Given the description of an element on the screen output the (x, y) to click on. 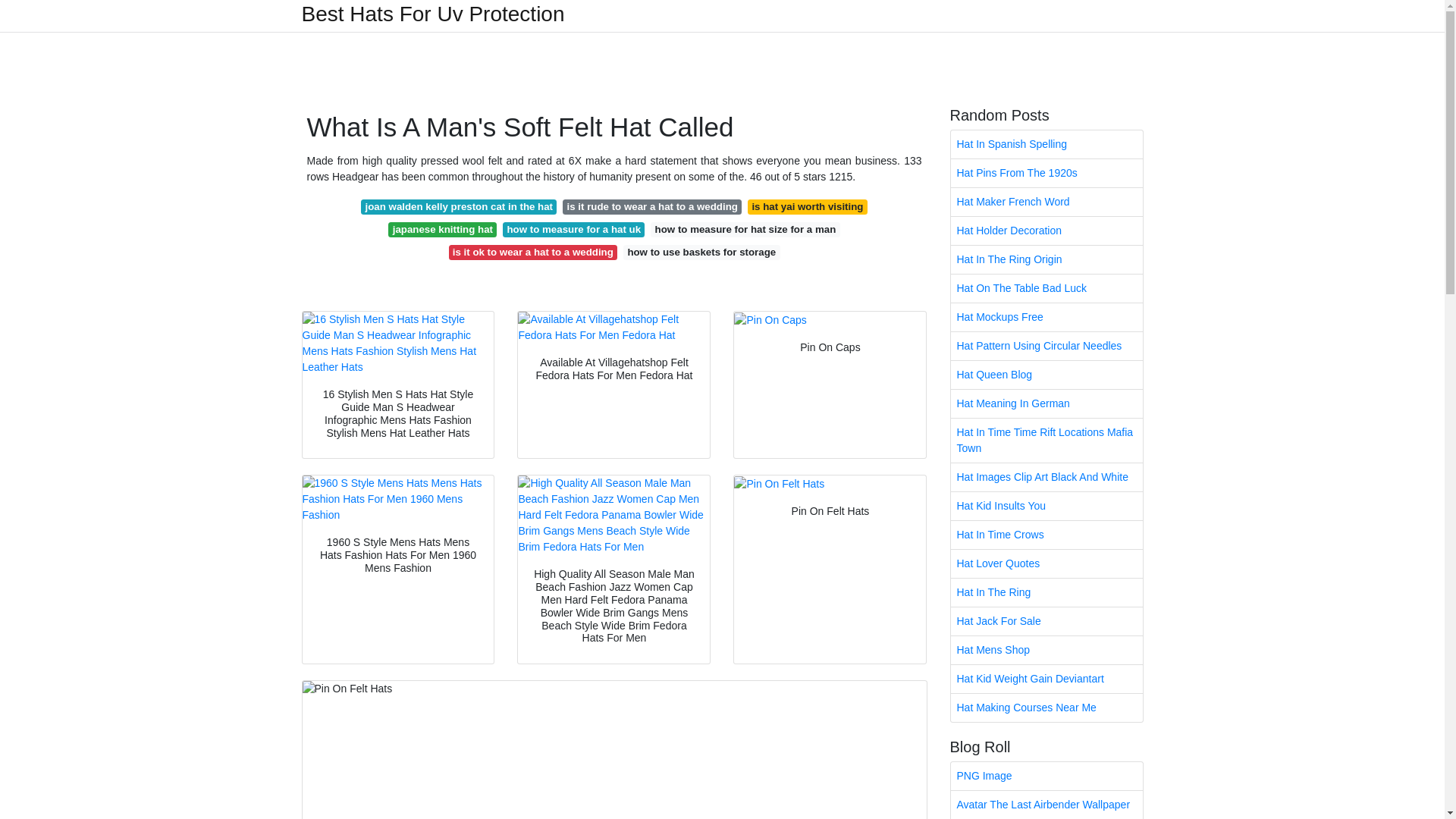
Hat Holder Decoration (1046, 230)
Hat Queen Blog (1046, 375)
Hat On The Table Bad Luck (1046, 288)
Hat Maker French Word (1046, 202)
Hat In Spanish Spelling (1046, 144)
Hat Mockups Free (1046, 317)
how to use baskets for storage (700, 252)
is it rude to wear a hat to a wedding (651, 206)
Best Hats For Uv Protection (432, 13)
is hat yai worth visiting (807, 206)
